Given the description of an element on the screen output the (x, y) to click on. 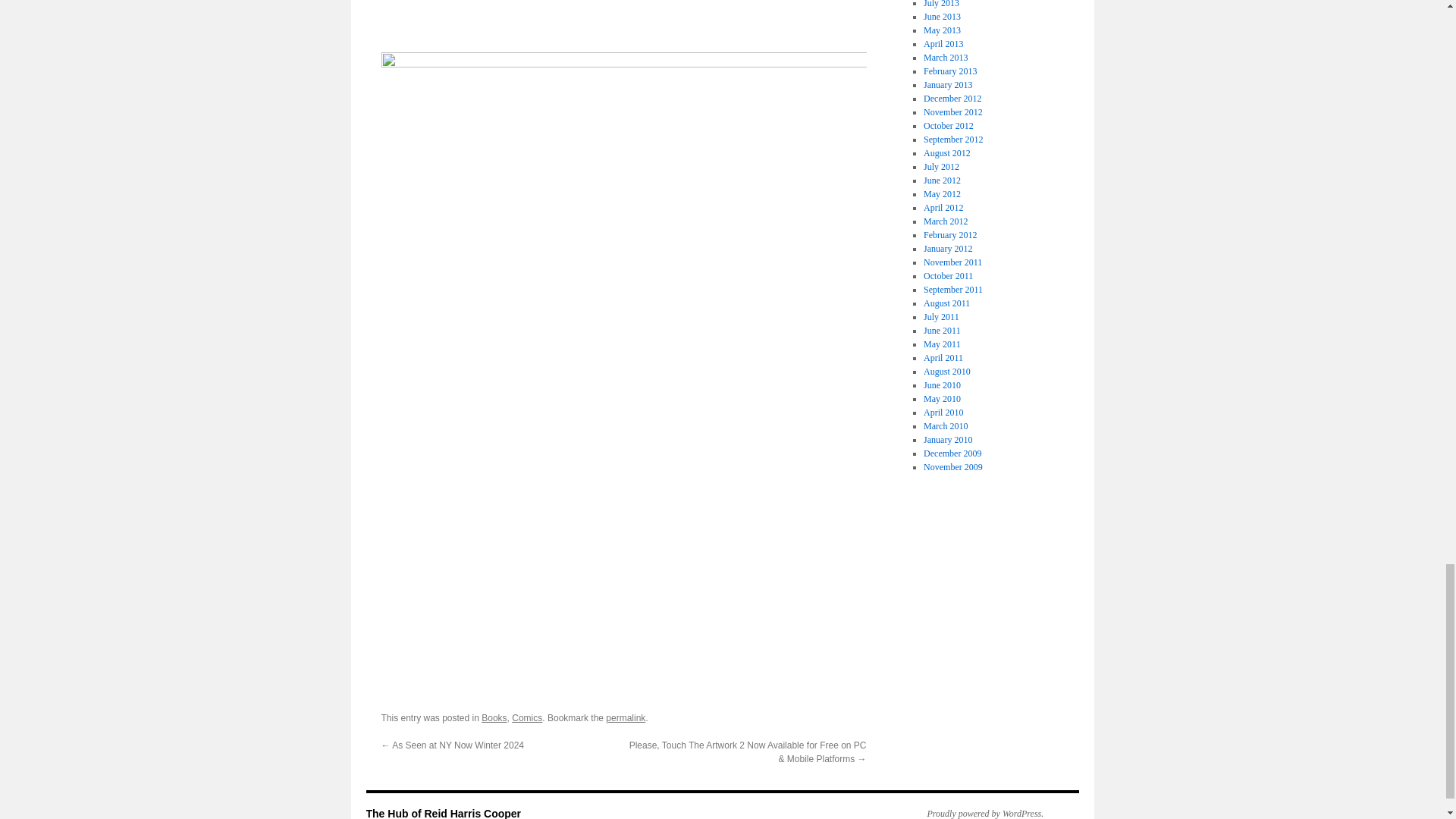
permalink (625, 717)
Comics (526, 717)
Books (493, 717)
